Given the description of an element on the screen output the (x, y) to click on. 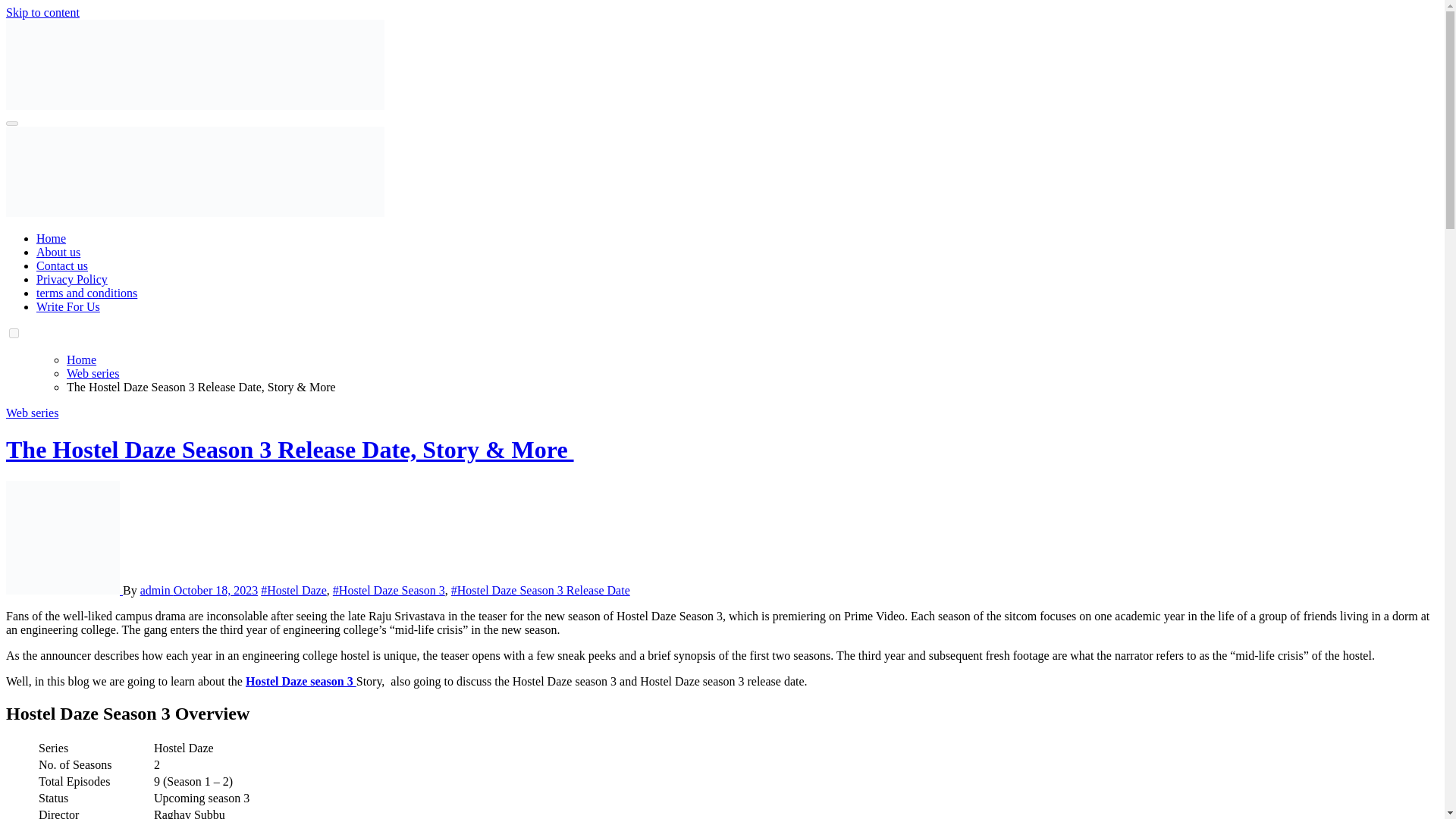
Write For Us (68, 306)
on (13, 333)
Home (81, 359)
admin (156, 590)
Contact us (61, 265)
Privacy Policy (71, 278)
October 18, 2023 (216, 590)
Web series (92, 373)
Web series (31, 412)
Skip to content (42, 11)
About us (58, 251)
terms and conditions (86, 292)
Home (50, 237)
Hostel Daze season 3 (301, 680)
Home (50, 237)
